Given the description of an element on the screen output the (x, y) to click on. 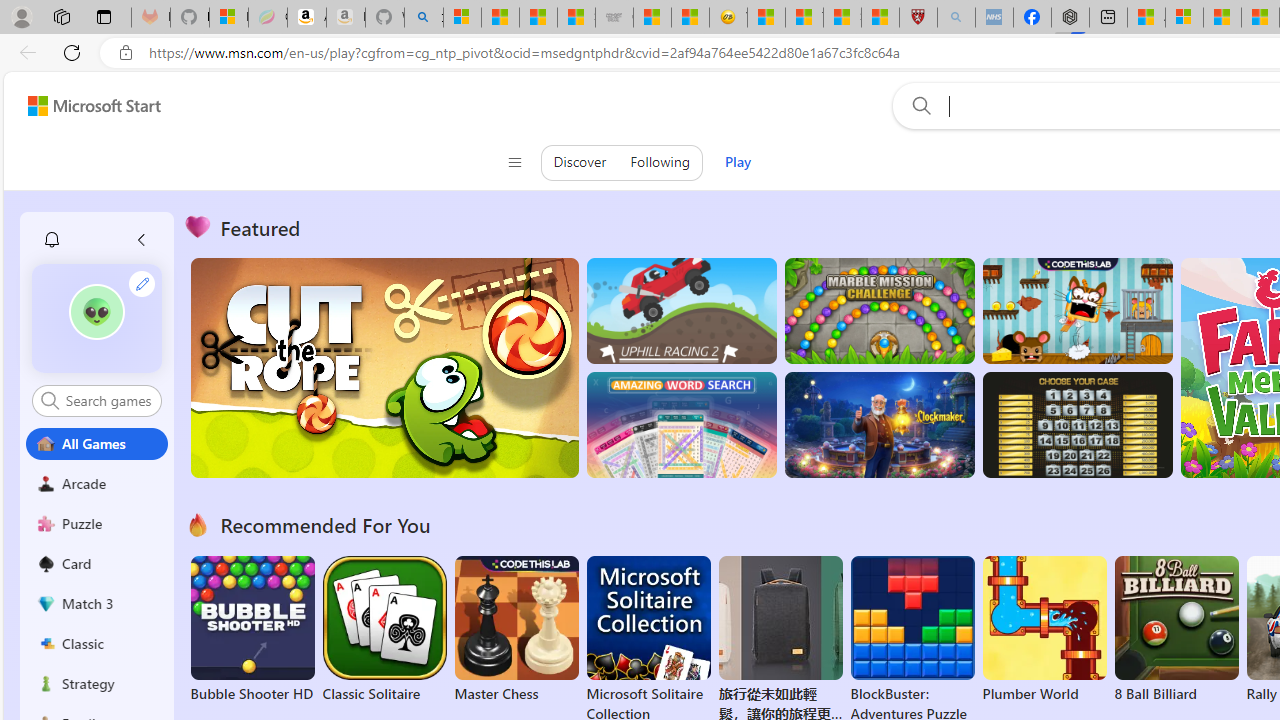
Plumber World (1044, 629)
Class: search-icon (50, 400)
Cut the Rope (383, 367)
Class: notification-item (51, 239)
